Given the description of an element on the screen output the (x, y) to click on. 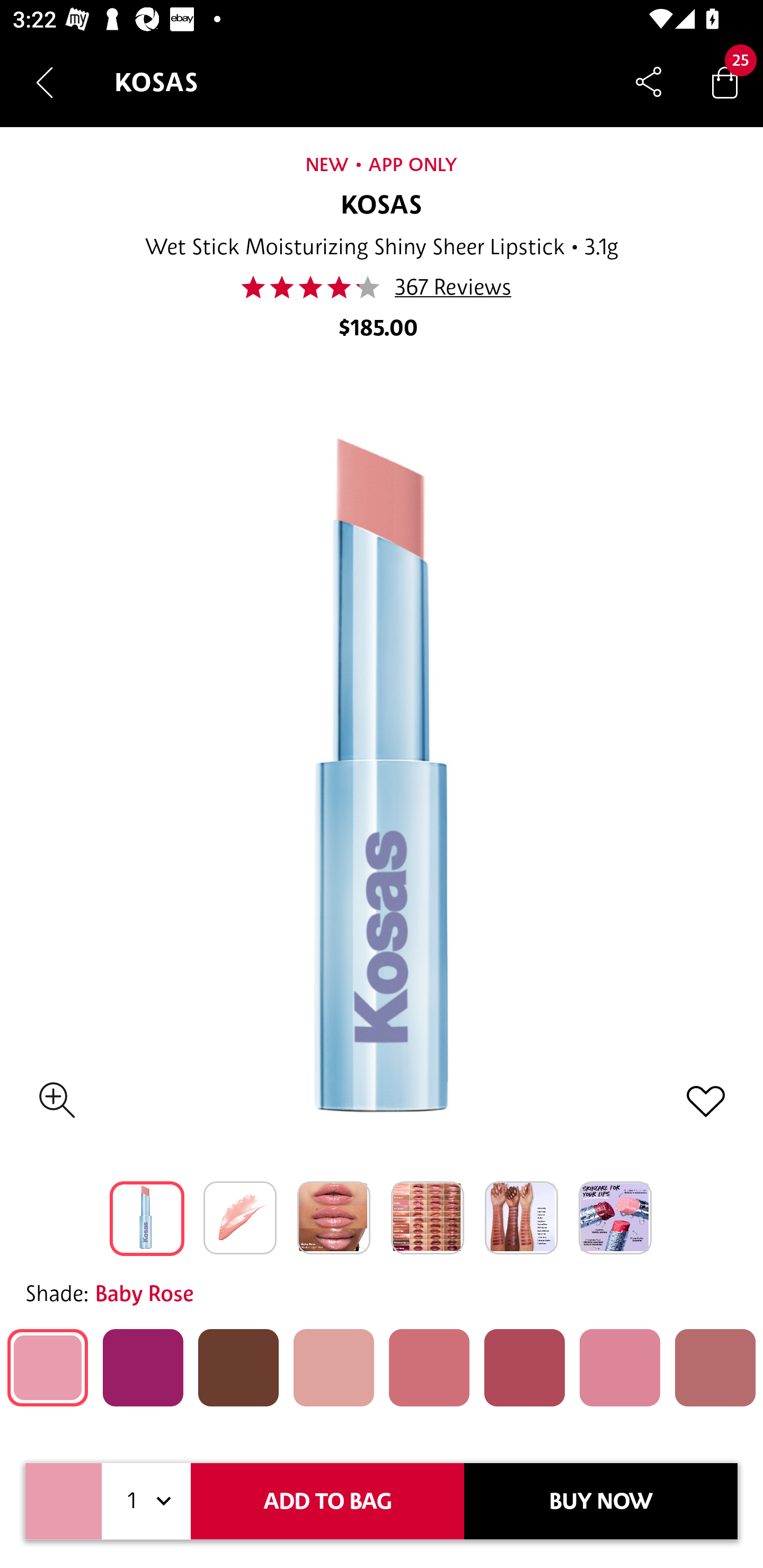
Navigate up (44, 82)
Share (648, 81)
Bag (724, 81)
KOSAS (381, 205)
42.0 367 Reviews (381, 286)
1 (145, 1500)
ADD TO BAG (326, 1500)
BUY NOW (600, 1500)
